Given the description of an element on the screen output the (x, y) to click on. 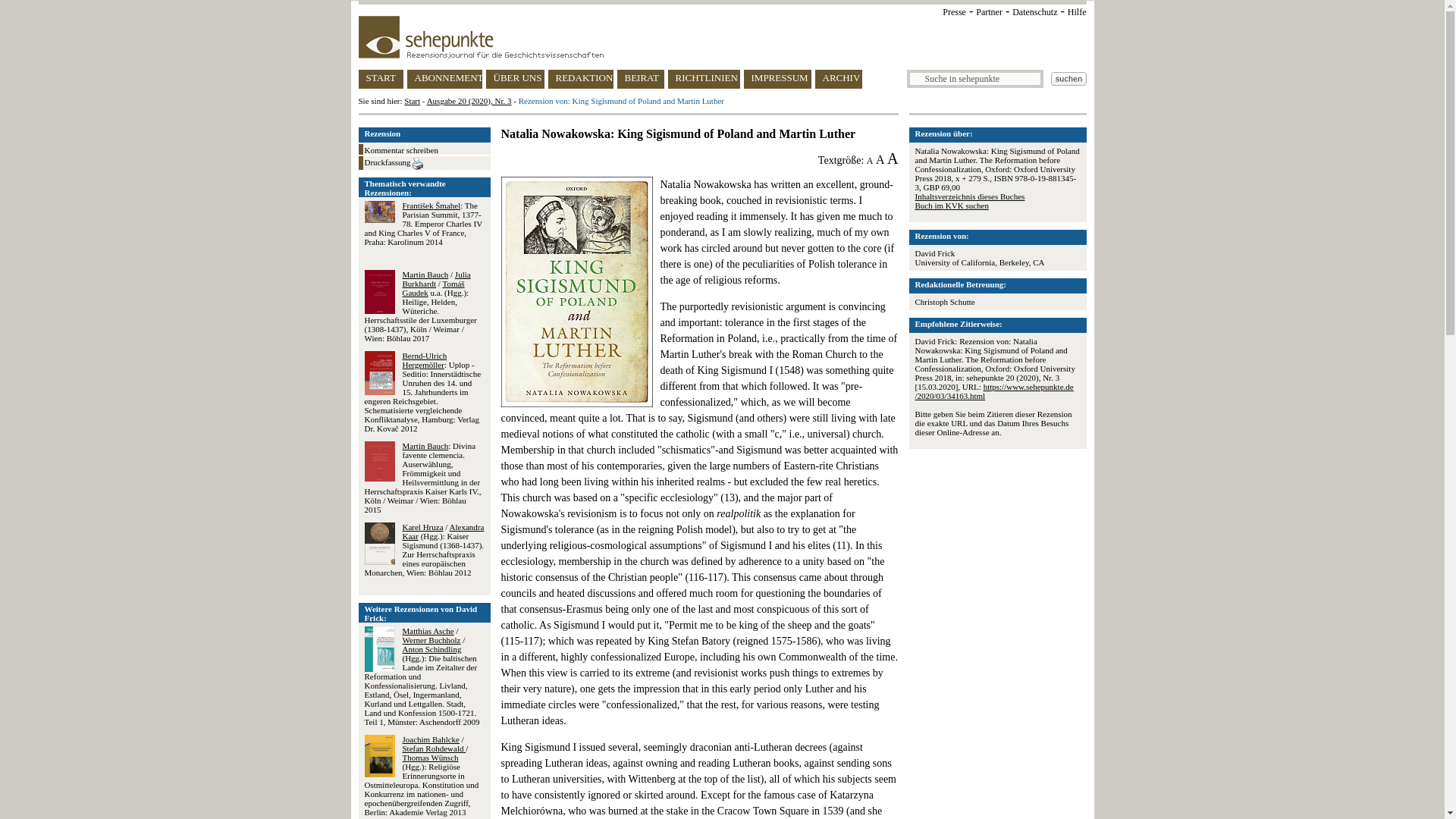
Redaktion (579, 78)
ABONNEMENT (443, 78)
REDAKTION (579, 78)
Start (412, 100)
Inhaltsverzeichnis dieses Buches (969, 195)
START (380, 78)
Beirat (640, 78)
Impressum (776, 78)
ARCHIV (837, 78)
BEIRAT (640, 78)
